Given the description of an element on the screen output the (x, y) to click on. 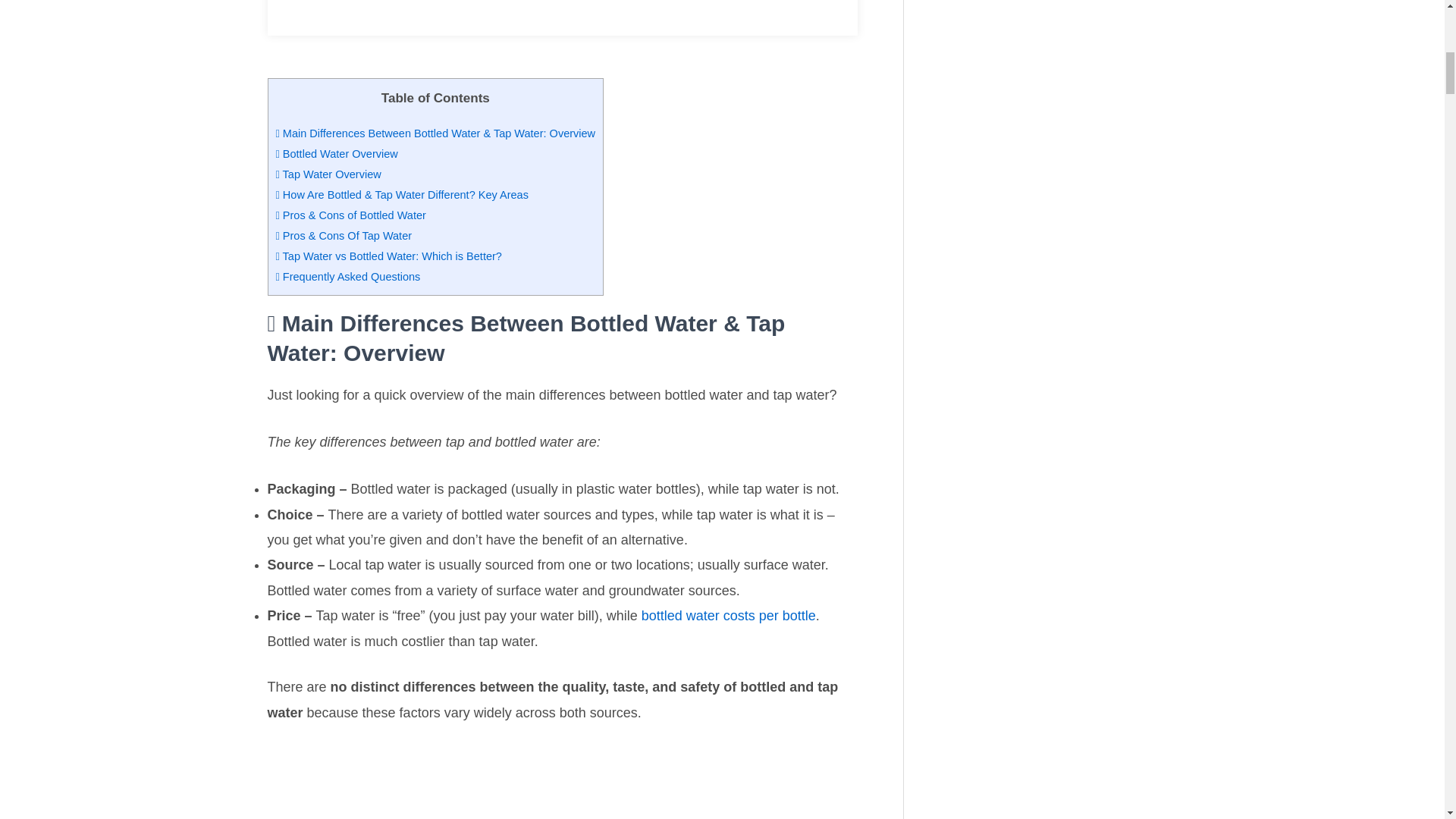
Tap Water vs Bottled Water (561, 783)
